Given the description of an element on the screen output the (x, y) to click on. 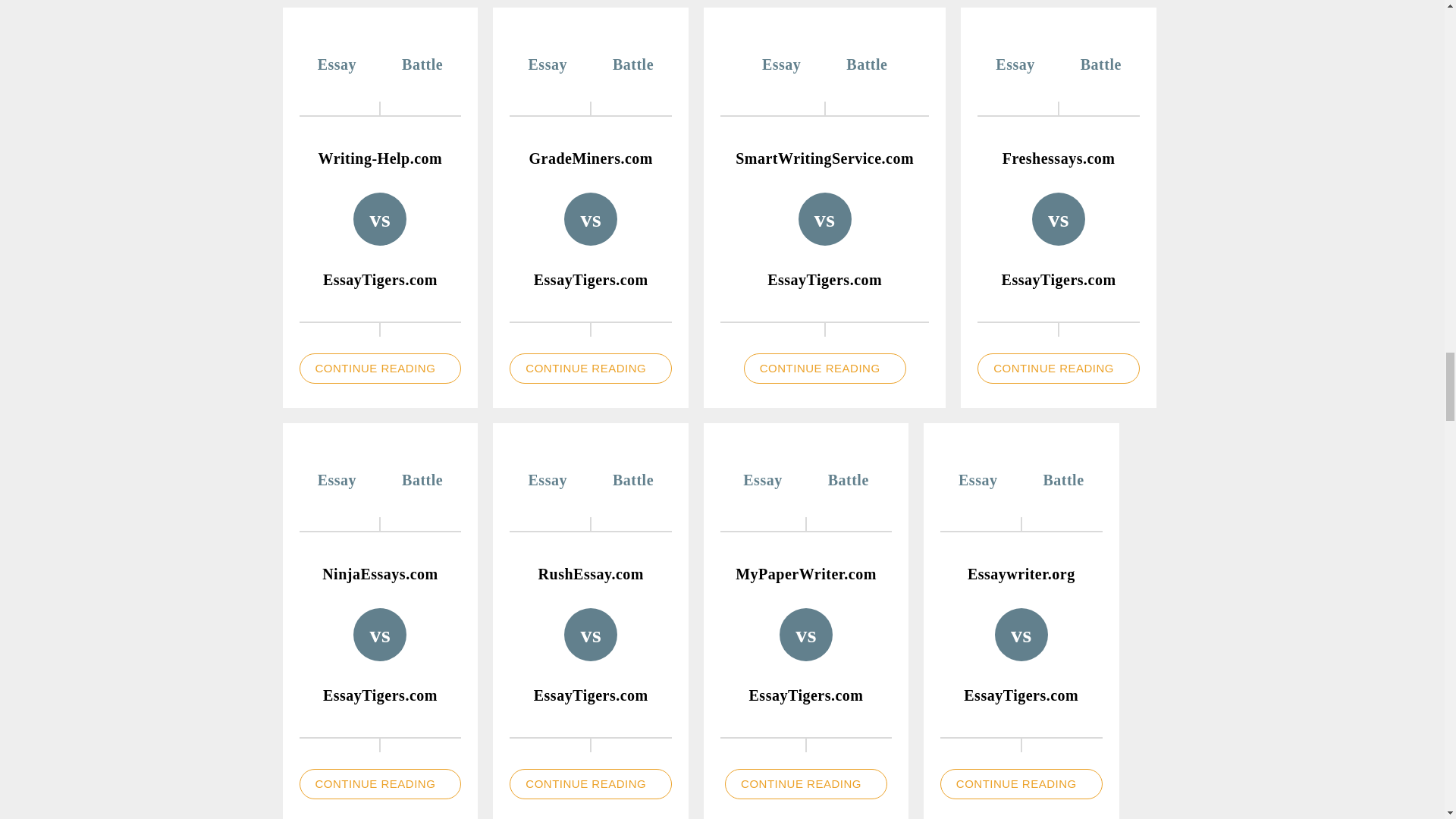
CONTINUE READING (379, 368)
CONTINUE READING (824, 368)
CONTINUE READING (590, 368)
